Given the description of an element on the screen output the (x, y) to click on. 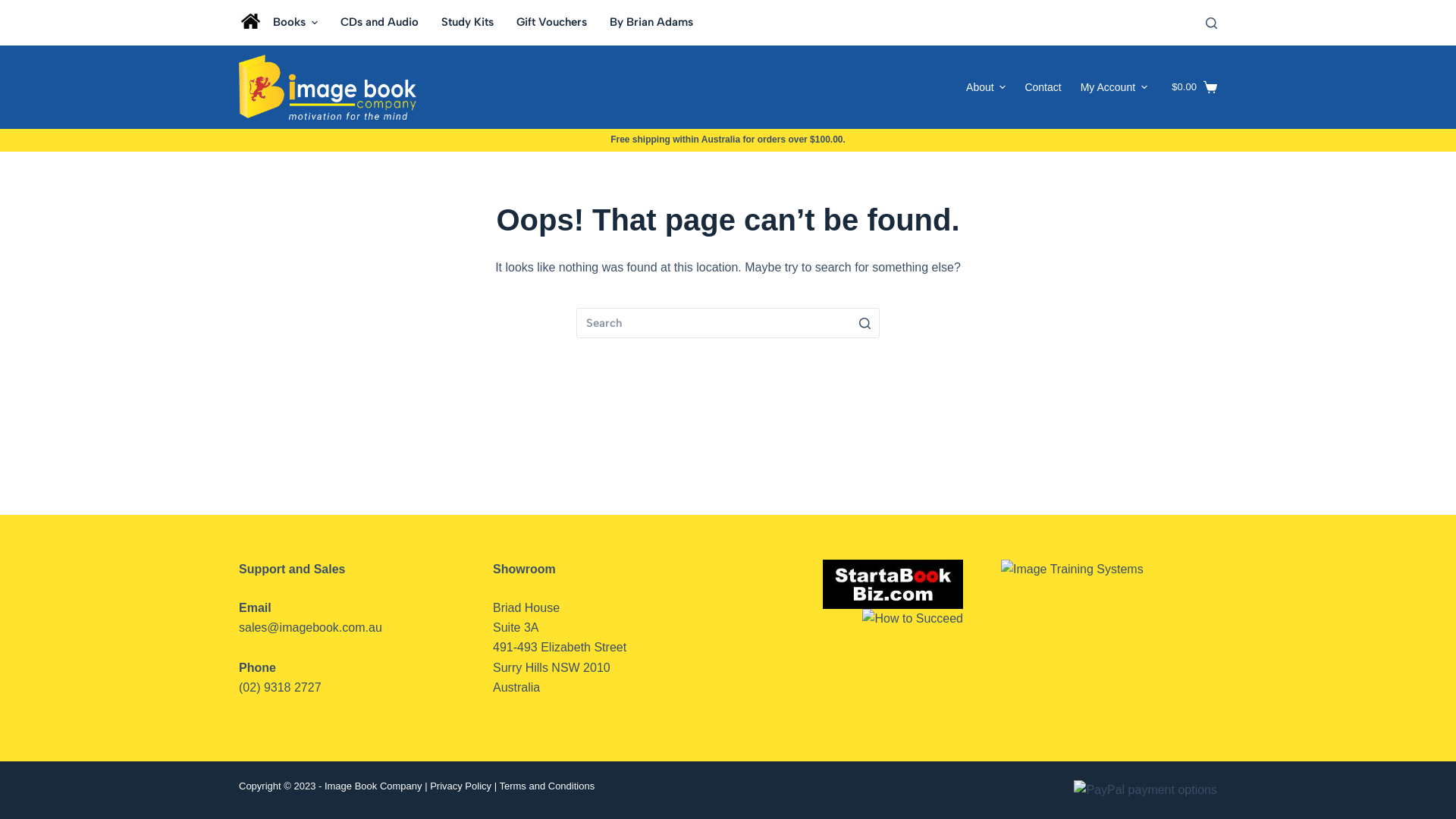
Privacy Policy Element type: text (460, 785)
Terms and Conditions Element type: text (546, 785)
My Account Element type: text (1113, 86)
$0.00 Element type: text (1194, 86)
About Element type: text (986, 86)
Study Kits Element type: text (467, 22)
CDs and Audio Element type: text (379, 22)
Contact Element type: text (1042, 86)
Gift Vouchers Element type: text (551, 22)
Search for... Element type: hover (727, 322)
By Brian Adams Element type: text (651, 22)
Skip to content Element type: text (15, 7)
Books Element type: text (295, 22)
Home Element type: text (249, 22)
